Given the description of an element on the screen output the (x, y) to click on. 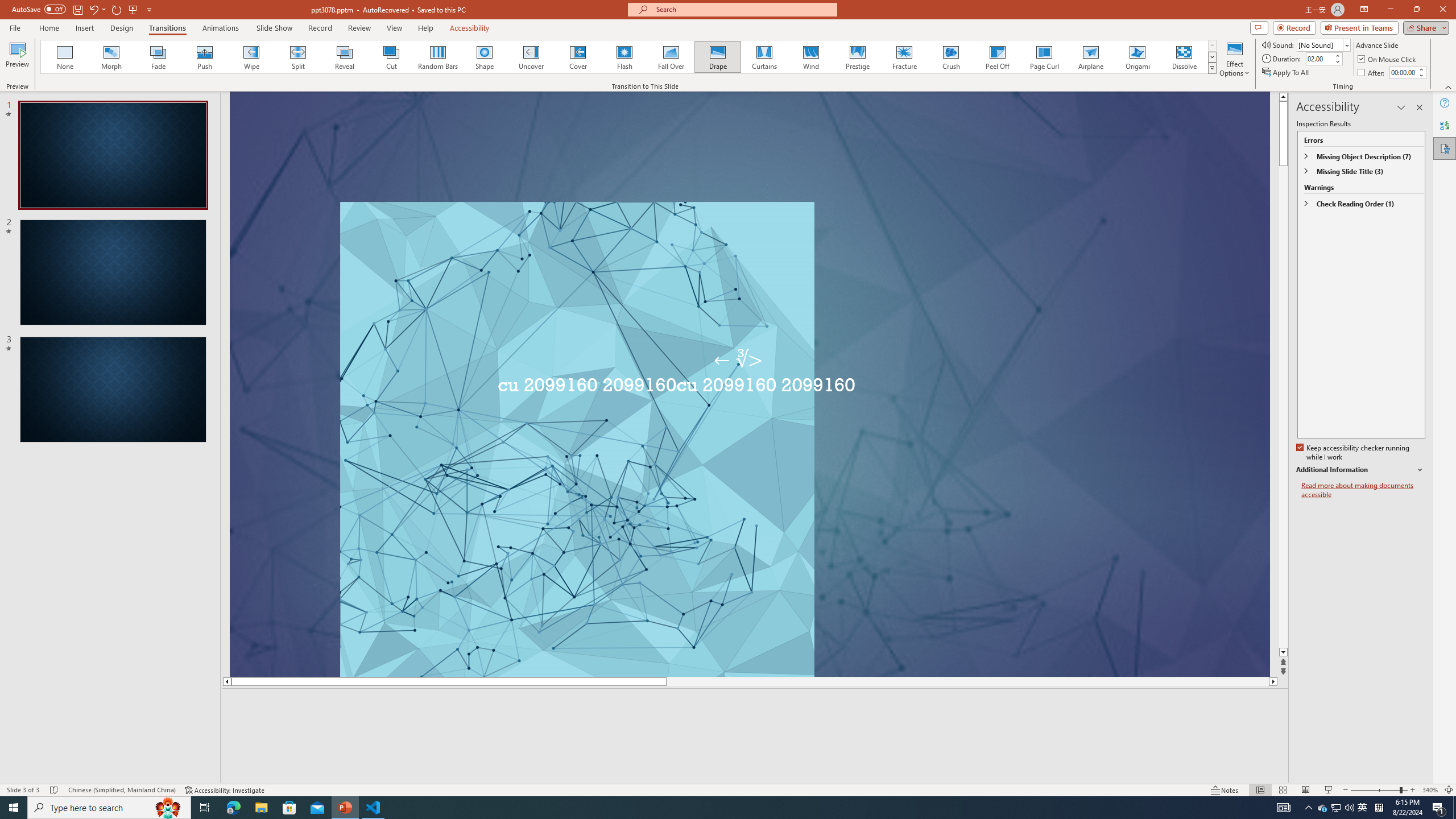
Morph (111, 56)
Apply To All (1286, 72)
An abstract genetic concept (761, 395)
